Given the description of an element on the screen output the (x, y) to click on. 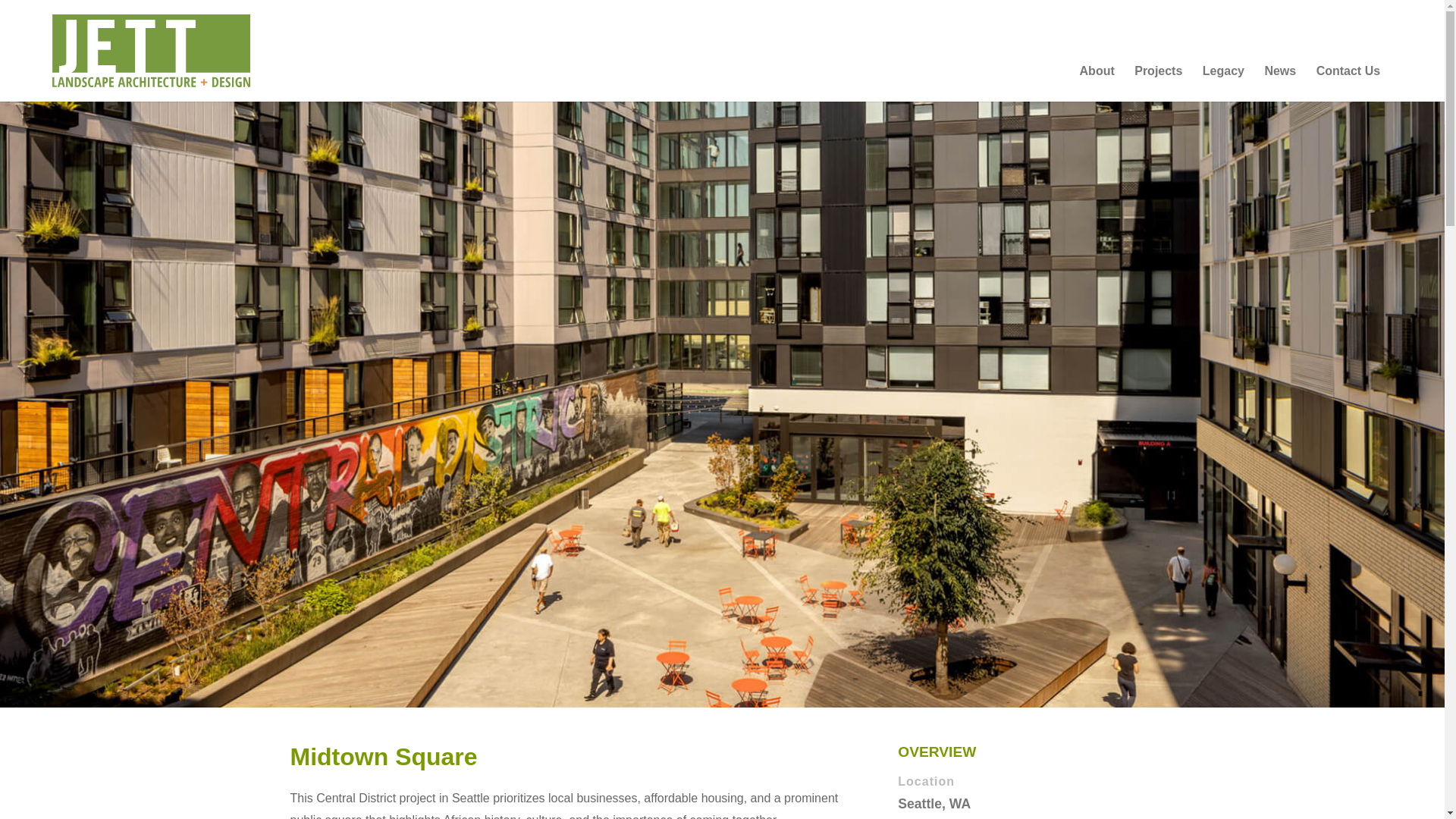
News (1279, 83)
Contact Us (1348, 83)
Projects (1158, 83)
Legacy (1223, 83)
About (1097, 83)
